Given the description of an element on the screen output the (x, y) to click on. 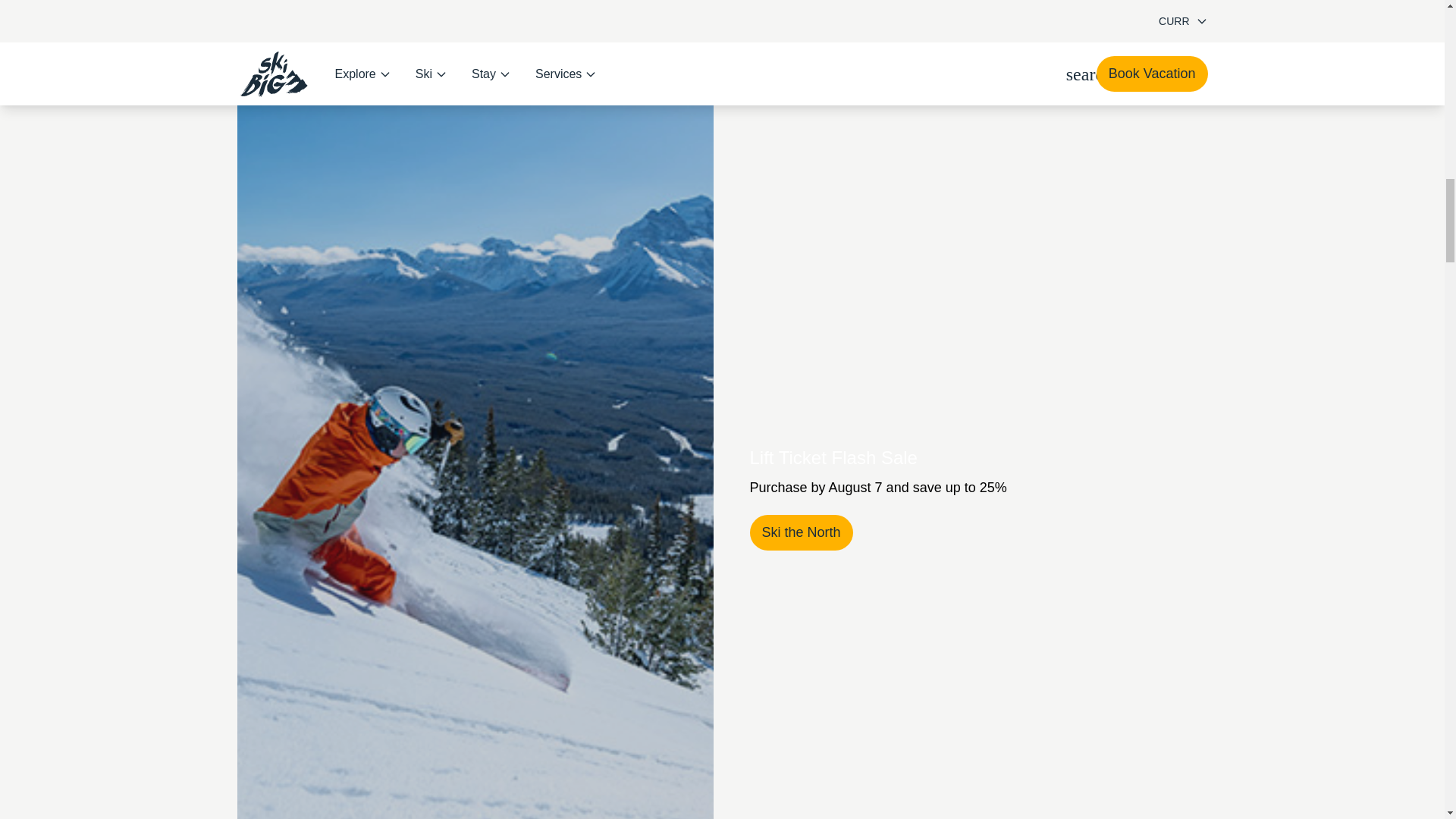
Lock-in My Pass (811, 532)
Lock-in My Pass (811, 532)
